Given the description of an element on the screen output the (x, y) to click on. 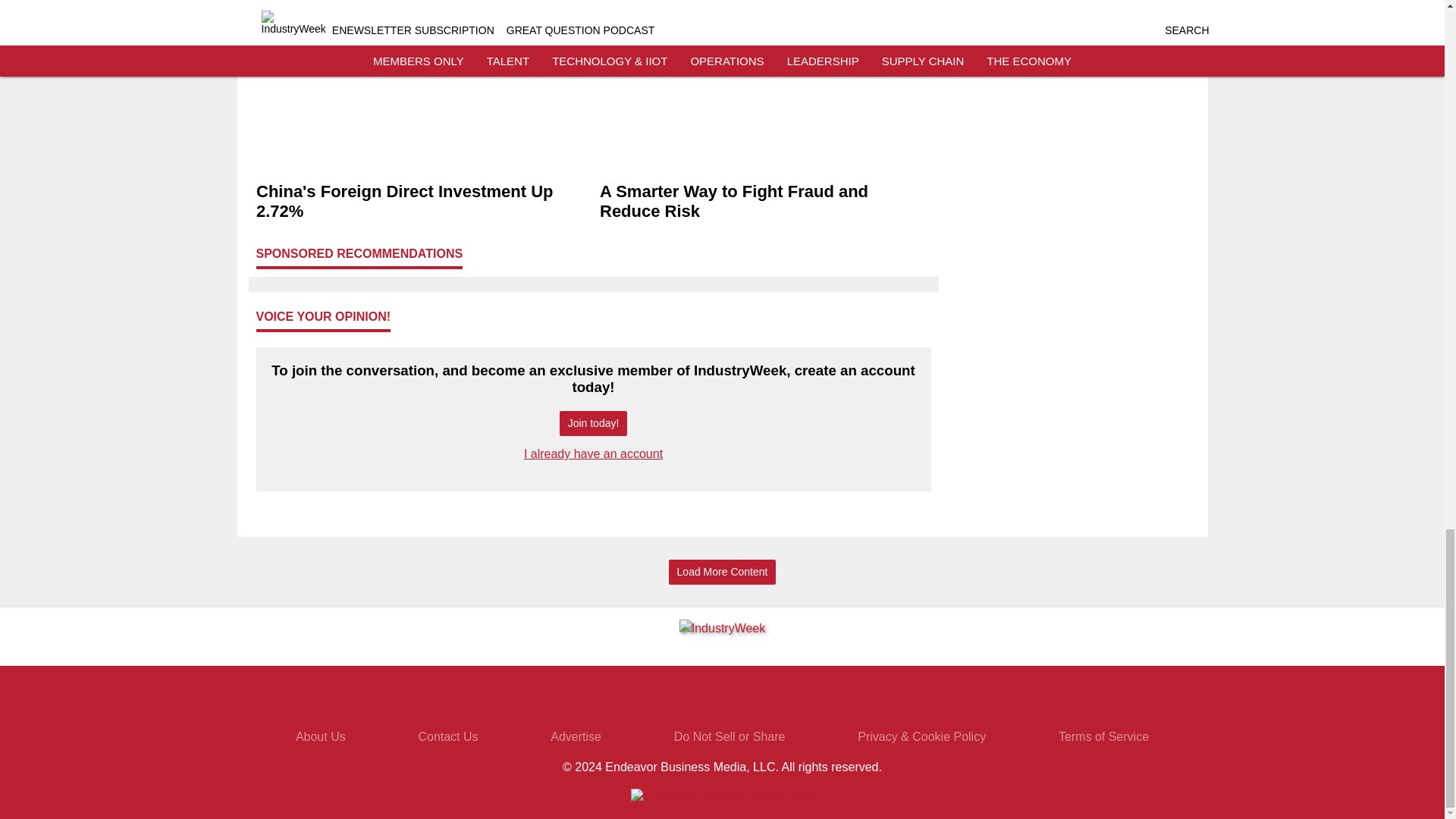
Join today! (593, 423)
I already have an account (593, 453)
A Smarter Way to Fight Fraud and Reduce Risk (764, 201)
